Given the description of an element on the screen output the (x, y) to click on. 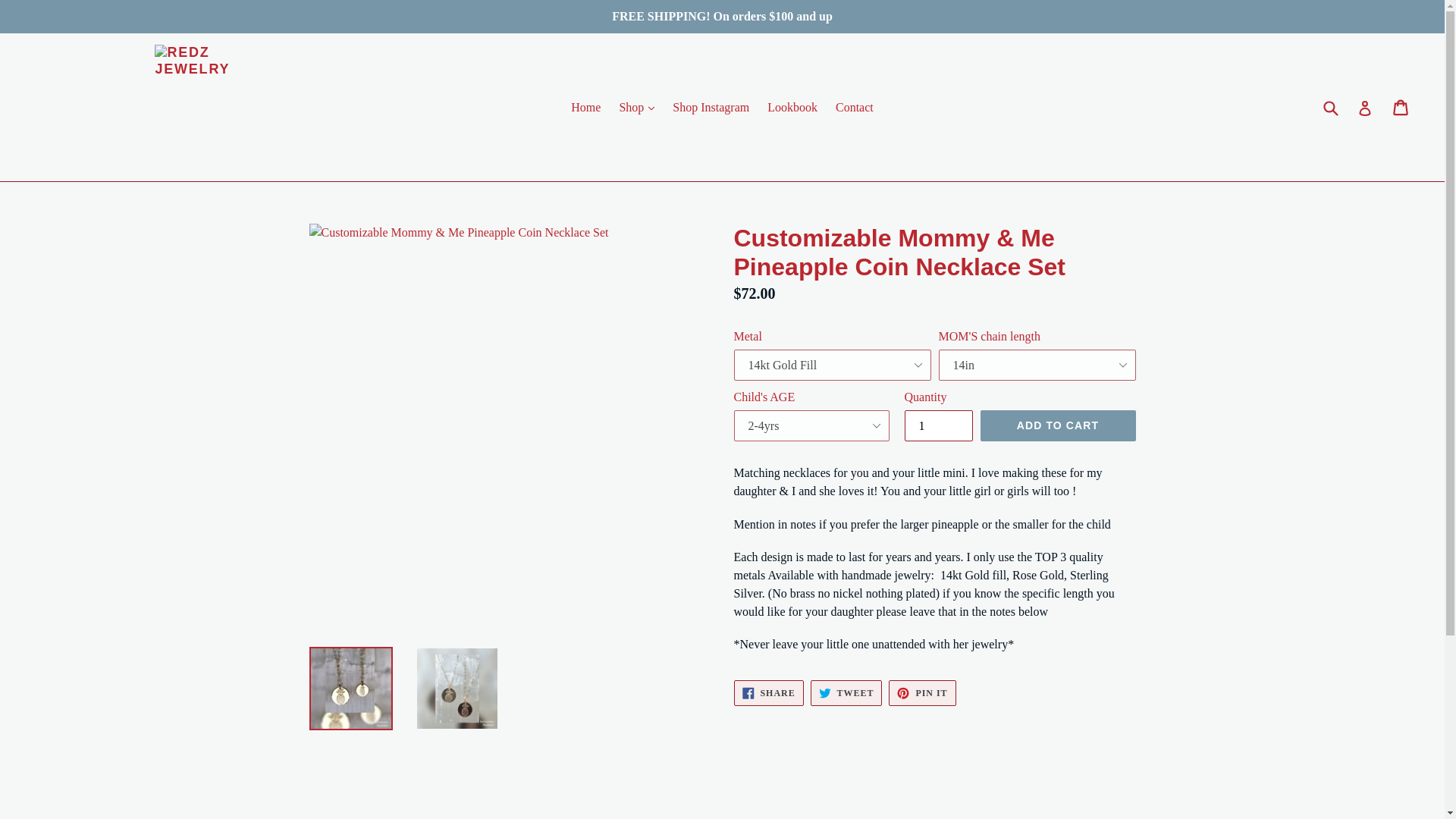
Tweet on Twitter (846, 692)
Shop Instagram (711, 106)
Contact (854, 106)
Share on Facebook (768, 692)
Lookbook (792, 106)
1 (938, 425)
Home (585, 106)
Pin on Pinterest (921, 692)
